Given the description of an element on the screen output the (x, y) to click on. 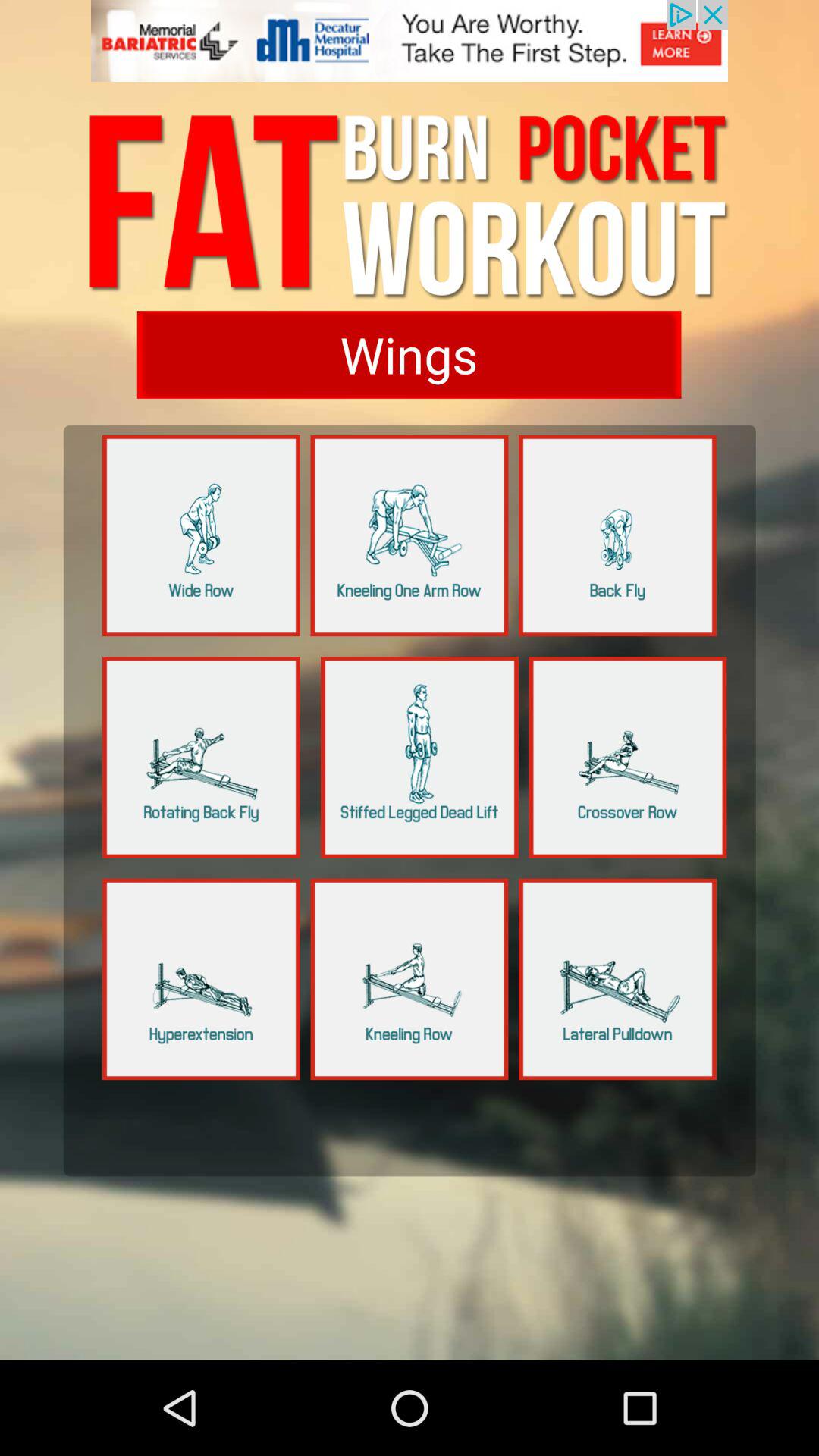
select the image (419, 757)
